Given the description of an element on the screen output the (x, y) to click on. 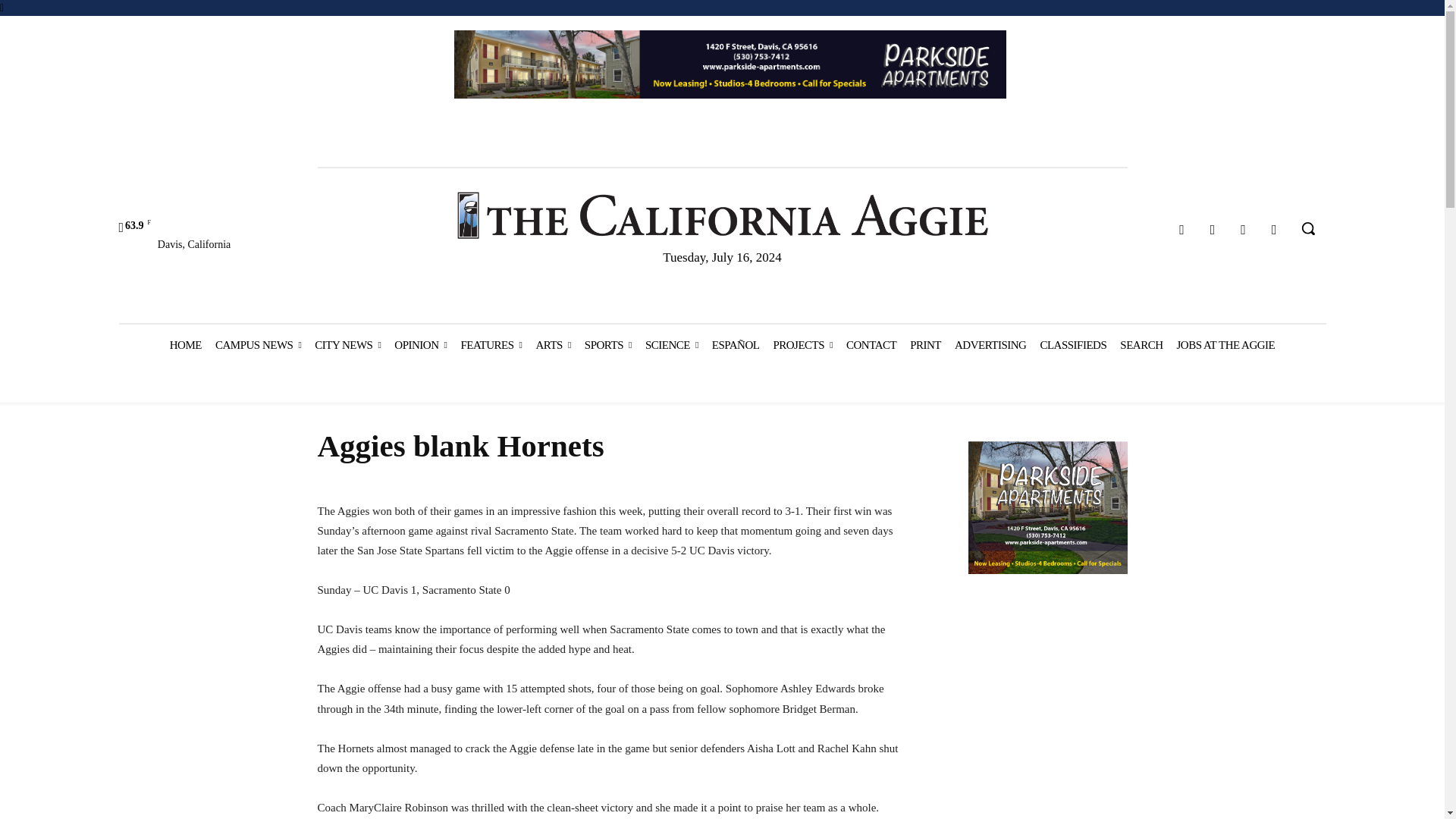
Youtube (1273, 229)
CAMPUS NEWS (257, 345)
Twitter (1243, 229)
Facebook (1181, 229)
Instagram (1212, 229)
HOME (185, 345)
